Given the description of an element on the screen output the (x, y) to click on. 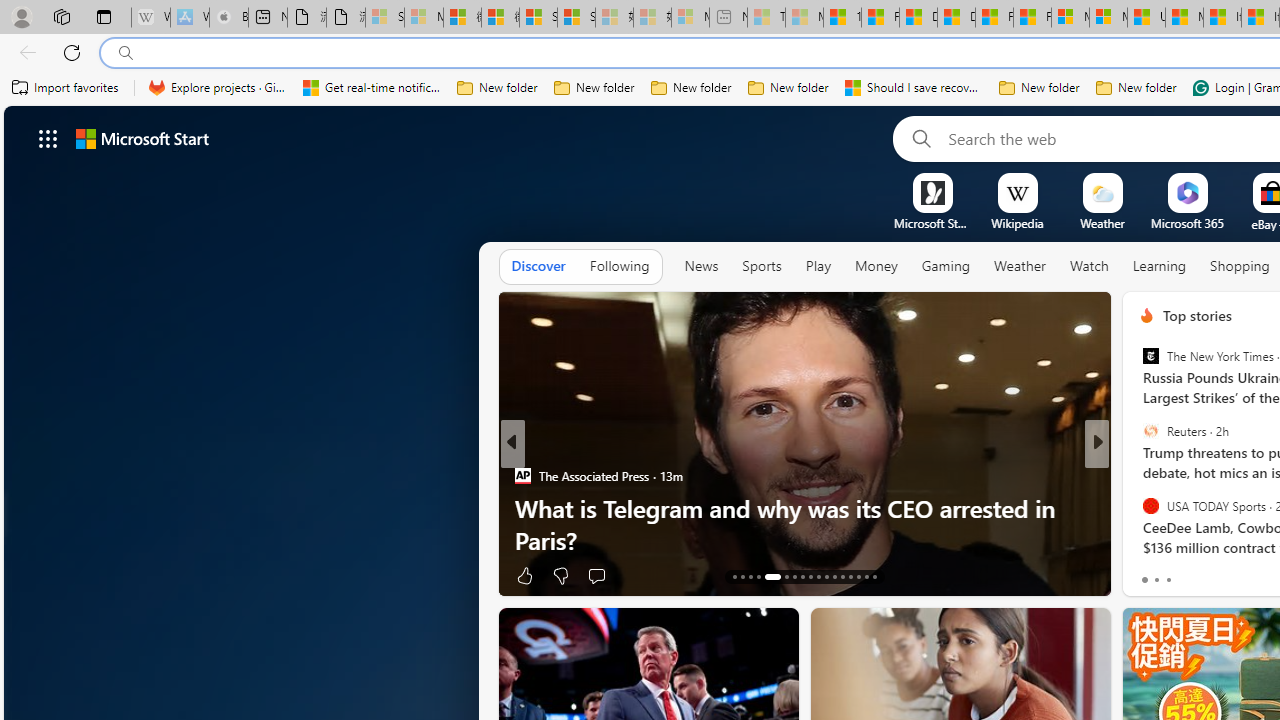
View comments 7 Comment (1234, 574)
New tab - Sleeping (728, 17)
Simply More Time (1138, 507)
Watch (1089, 265)
View comments 8 Comment (1234, 574)
Sports (761, 265)
Top Stories - MSN - Sleeping (765, 17)
AutomationID: tab-21 (810, 576)
View comments 460 Comment (1247, 574)
View comments 3 Comment (1241, 574)
News (701, 265)
Should I save recovered Word documents? - Microsoft Support (913, 88)
AutomationID: tab-19 (793, 576)
